Given the description of an element on the screen output the (x, y) to click on. 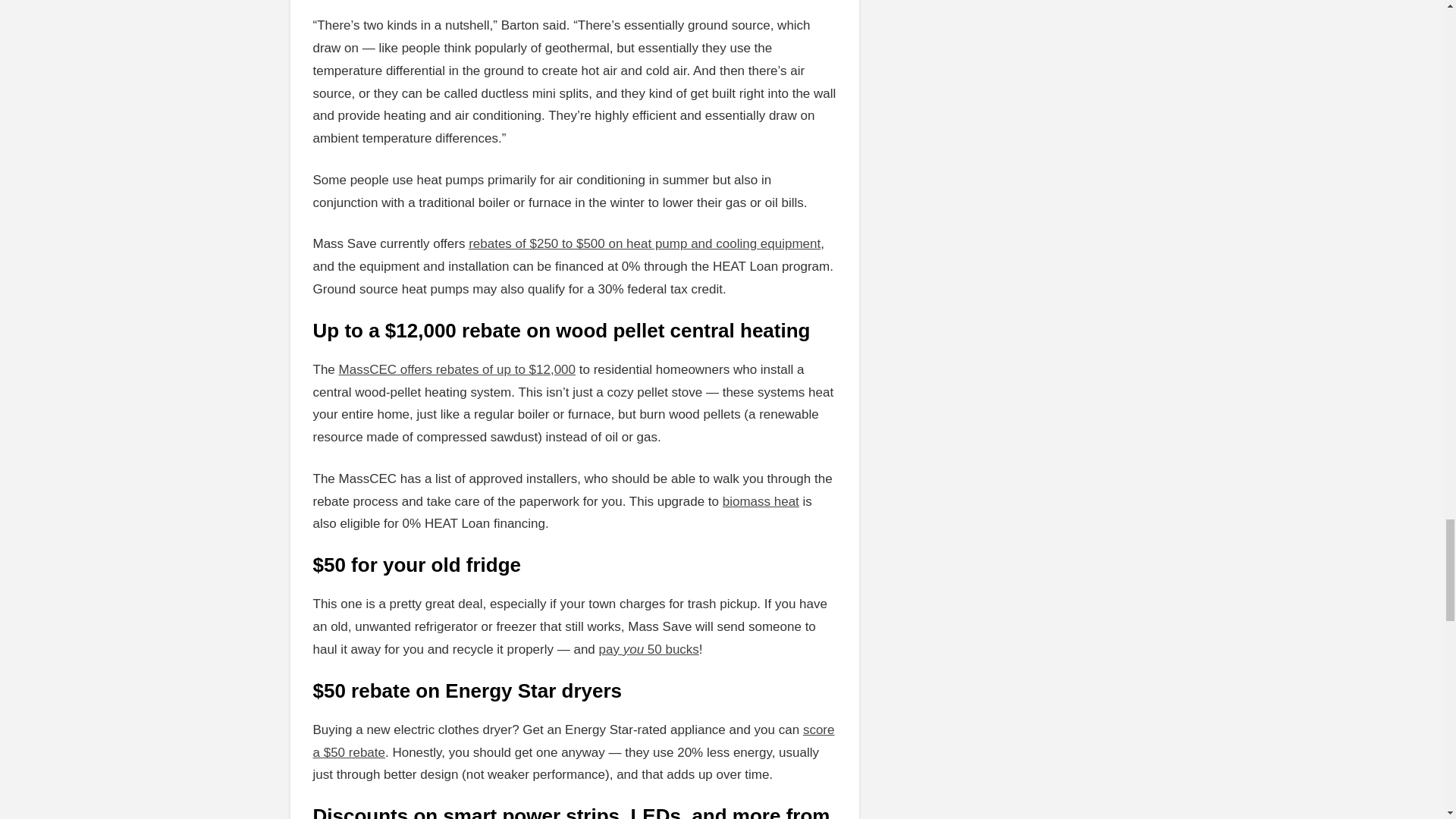
pay (609, 649)
biomass heat (760, 501)
50 bucks (672, 649)
you (633, 649)
